Given the description of an element on the screen output the (x, y) to click on. 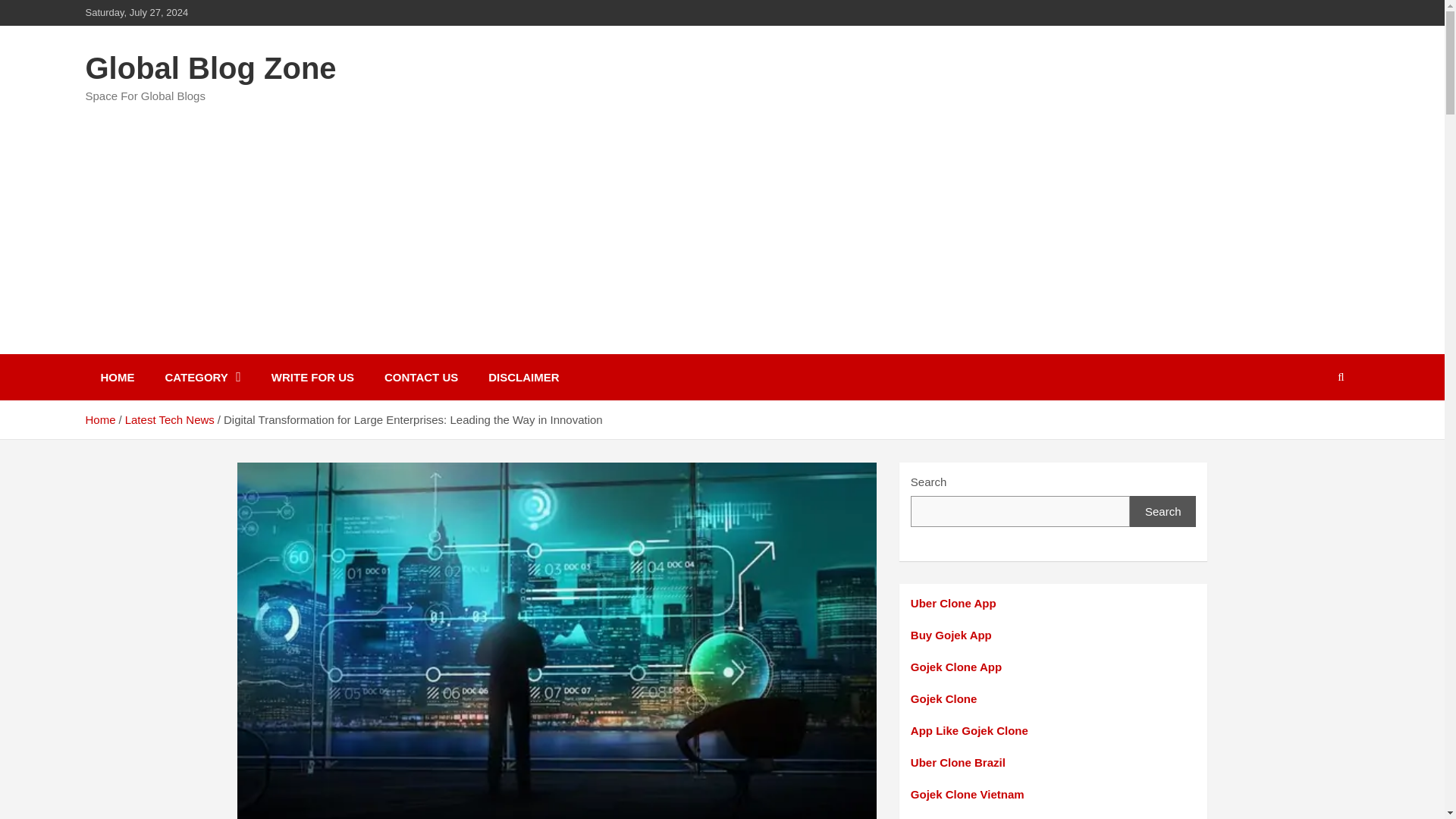
Latest Tech News (169, 419)
DISCLAIMER (523, 376)
HOME (116, 376)
CONTACT US (421, 376)
WRITE FOR US (312, 376)
CATEGORY (202, 376)
Global Blog Zone (210, 68)
Home (99, 419)
